Given the description of an element on the screen output the (x, y) to click on. 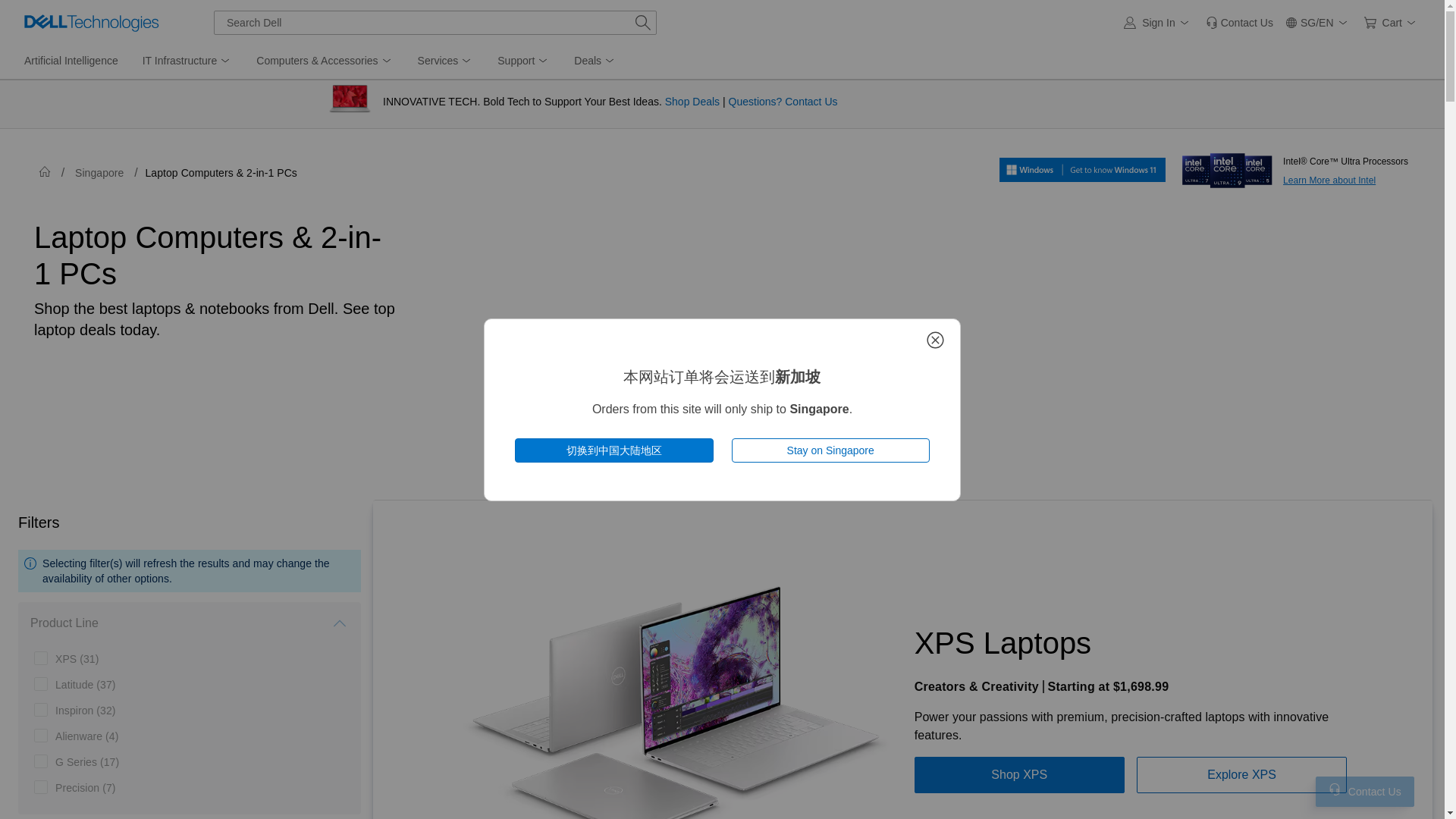
Singapore (98, 172)
Precision (85, 787)
Learn More about Intel (1226, 165)
IT Infrastructure (187, 61)
Latitude (85, 684)
Artificial Intelligence (71, 61)
Windows I Get to know Windows 11 (1082, 168)
Cart (1392, 22)
Contact Us (1239, 22)
Sign In (1158, 22)
Alienware (86, 735)
Inspiron (85, 710)
G Series (87, 761)
Contact Us (1333, 788)
XPS (77, 658)
